Given the description of an element on the screen output the (x, y) to click on. 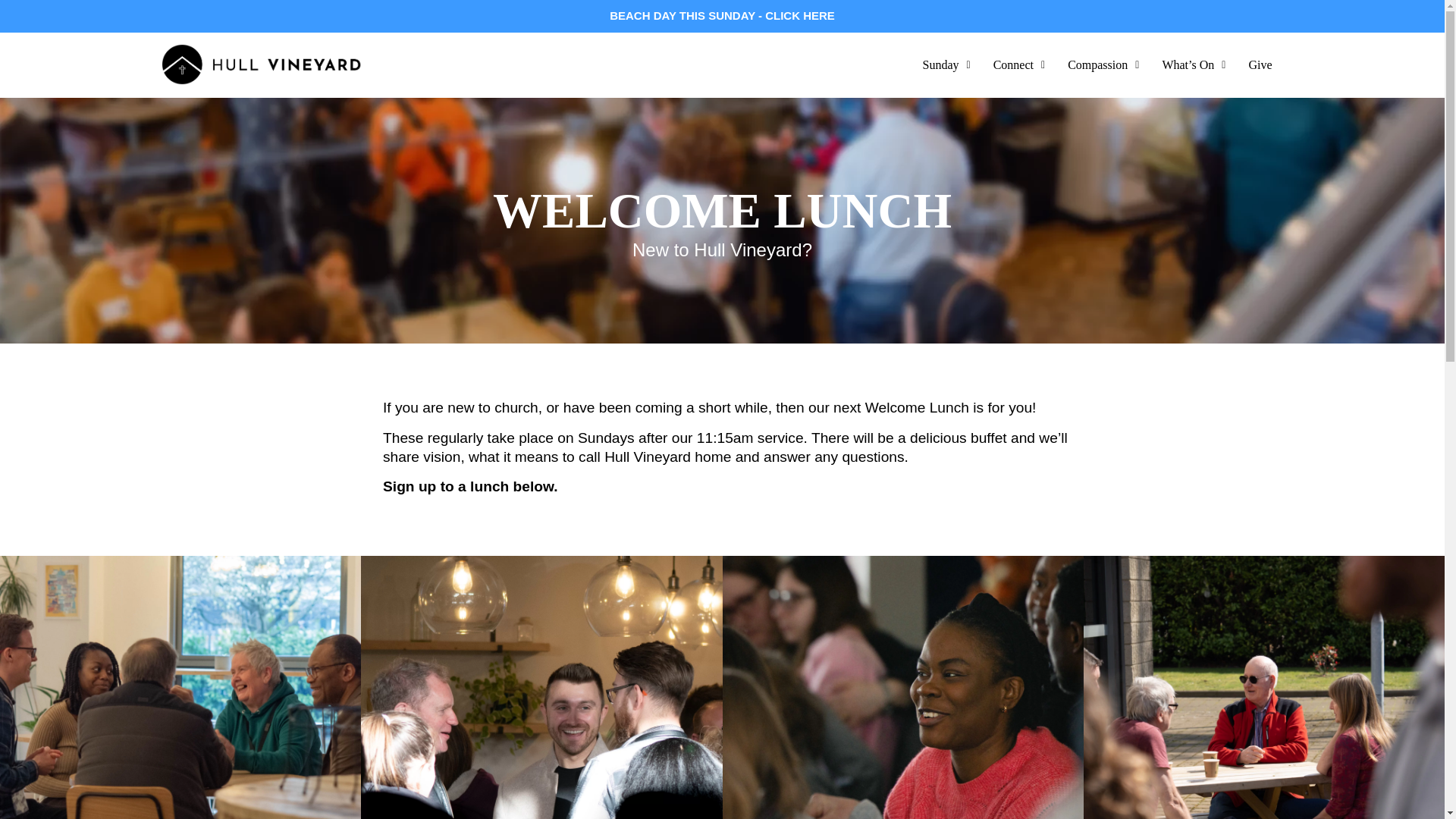
BEACH DAY THIS SUNDAY - CLICK HERE (722, 15)
Connect (1019, 64)
Compassion (1103, 64)
Sunday (946, 64)
Give (1259, 64)
